Given the description of an element on the screen output the (x, y) to click on. 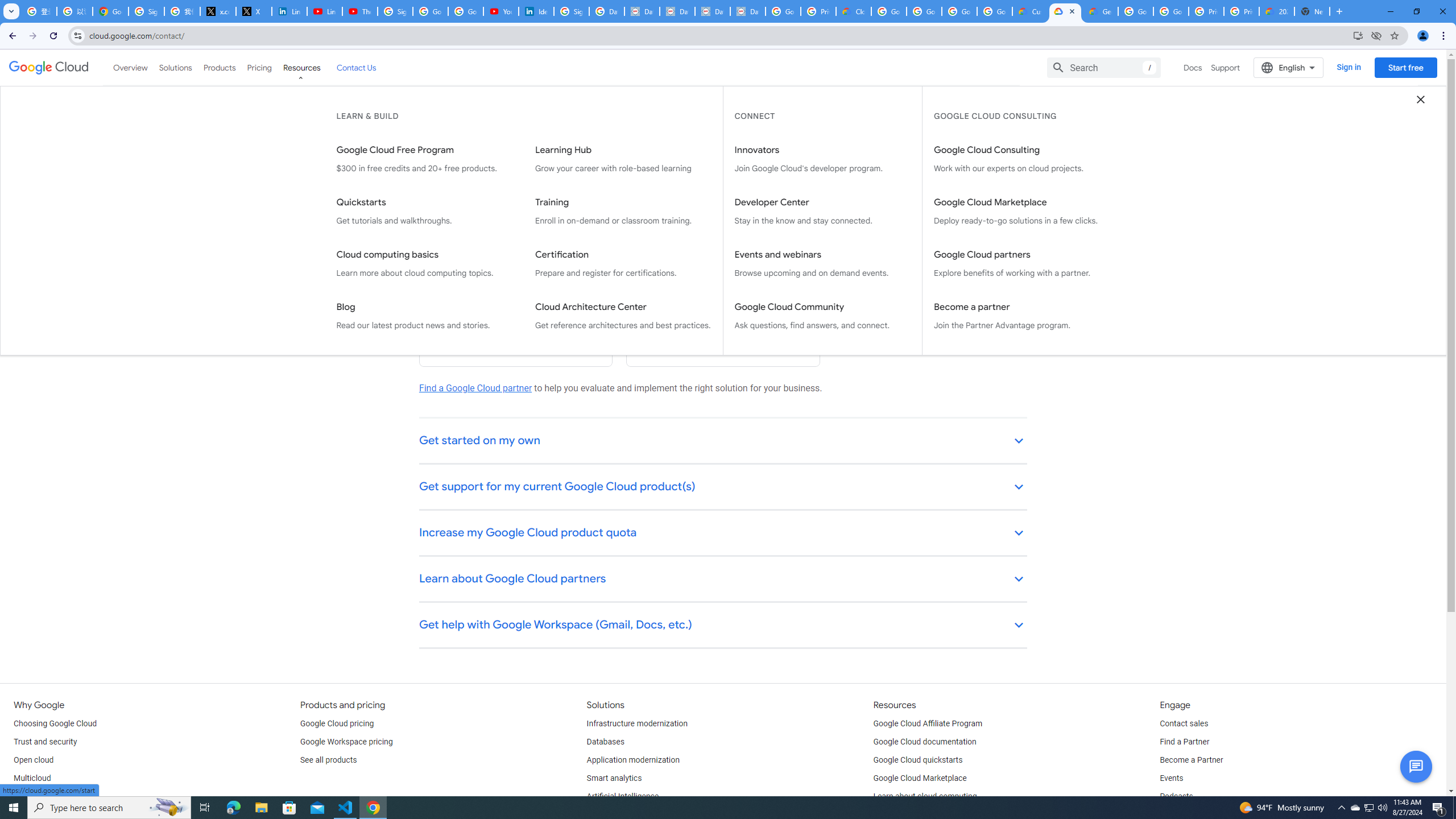
Third-party cookies blocked (1376, 35)
Google Cloud Platform (1135, 11)
Learn about Google Cloud partners keyboard_arrow_down (723, 579)
Start free (1405, 67)
Google Cloud Platform (1170, 11)
Close dropdown menu (1420, 99)
Learn about cloud computing (924, 796)
